Given the description of an element on the screen output the (x, y) to click on. 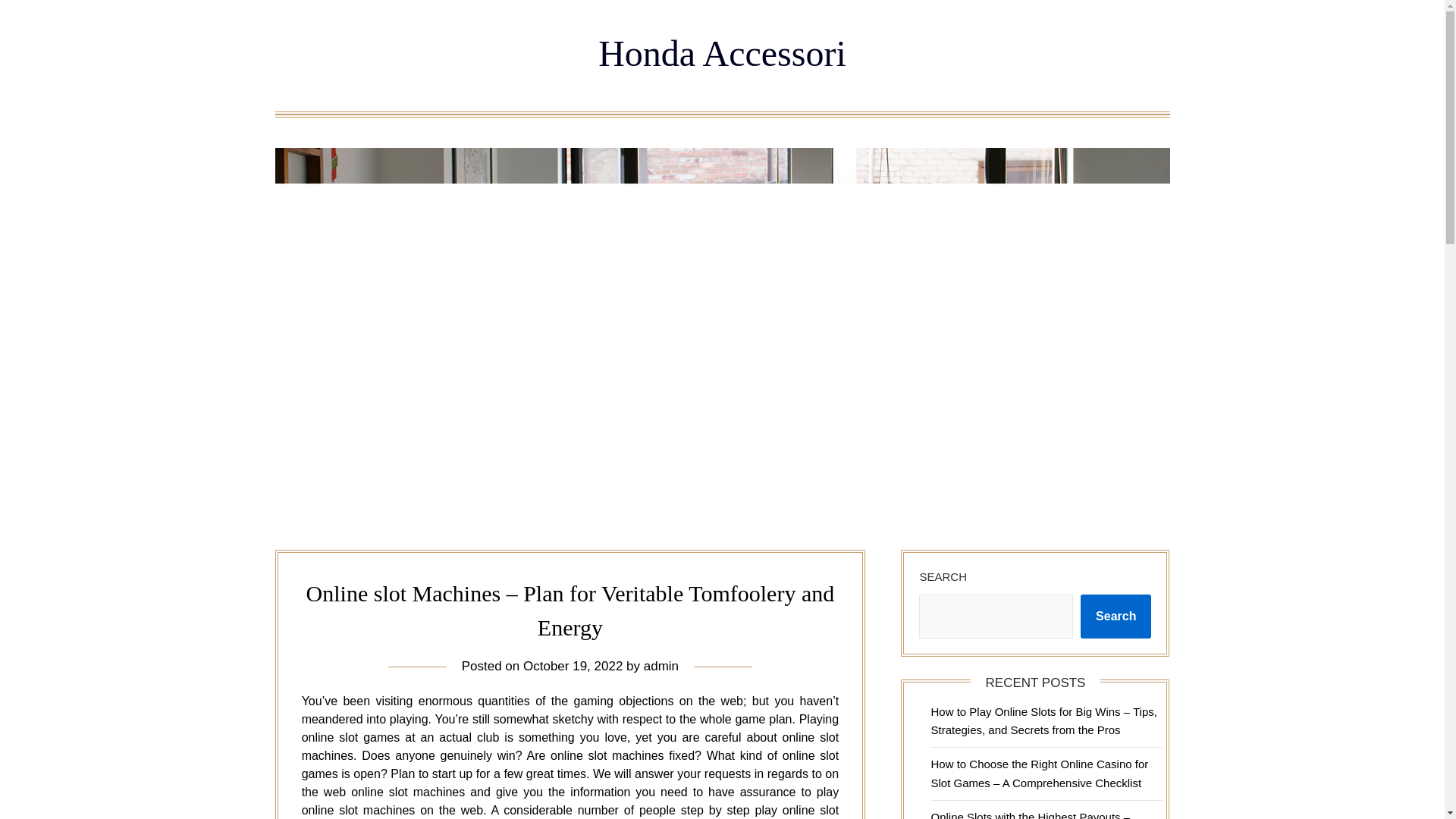
Search (1115, 616)
October 19, 2022 (572, 666)
Honda Accessori (721, 53)
admin (660, 666)
